Given the description of an element on the screen output the (x, y) to click on. 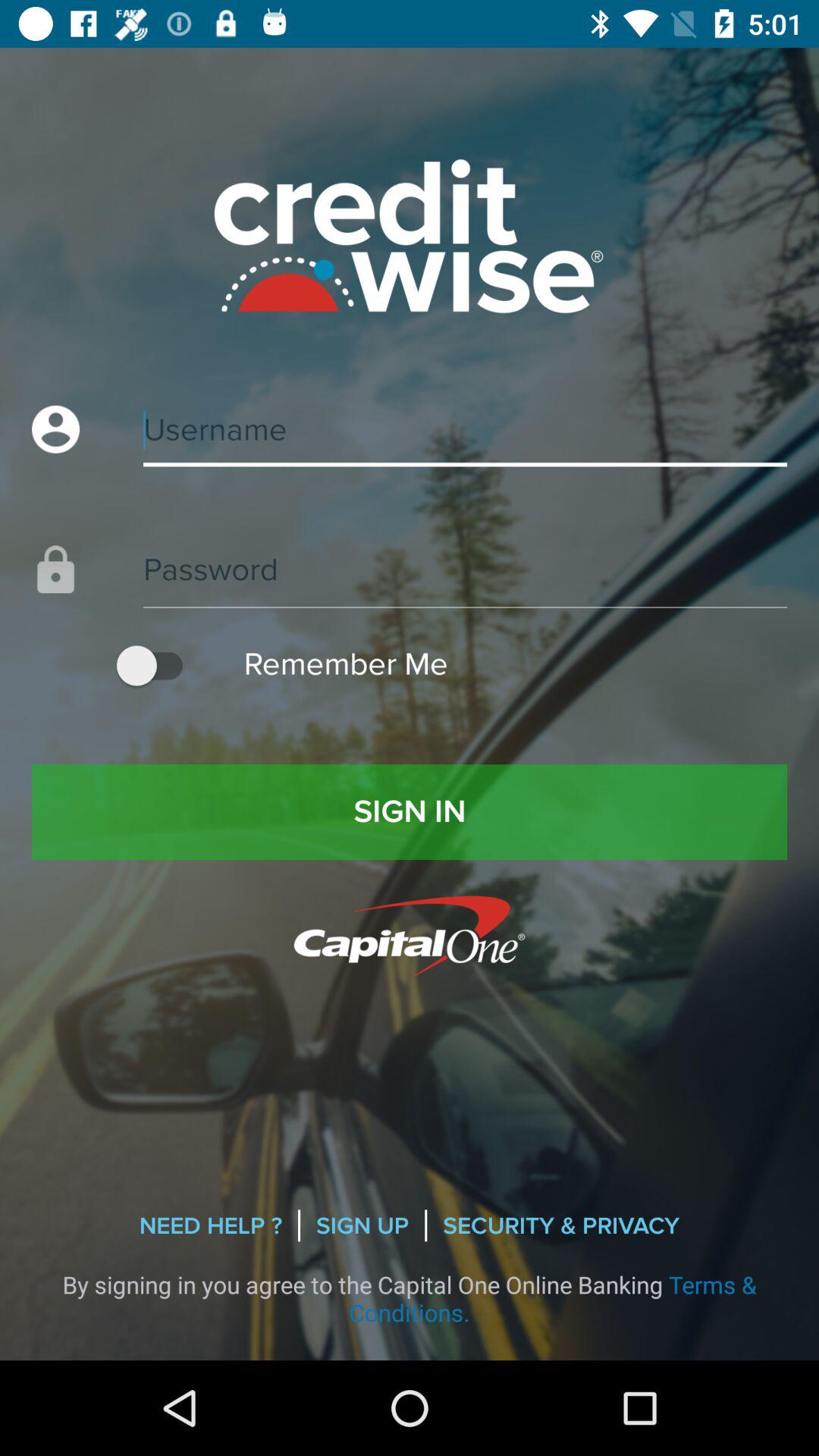
click on capital one (409, 935)
click on the password text field (409, 553)
select the securityprivacy option (560, 1225)
select the text which is immediately below remember me (409, 812)
